Given the description of an element on the screen output the (x, y) to click on. 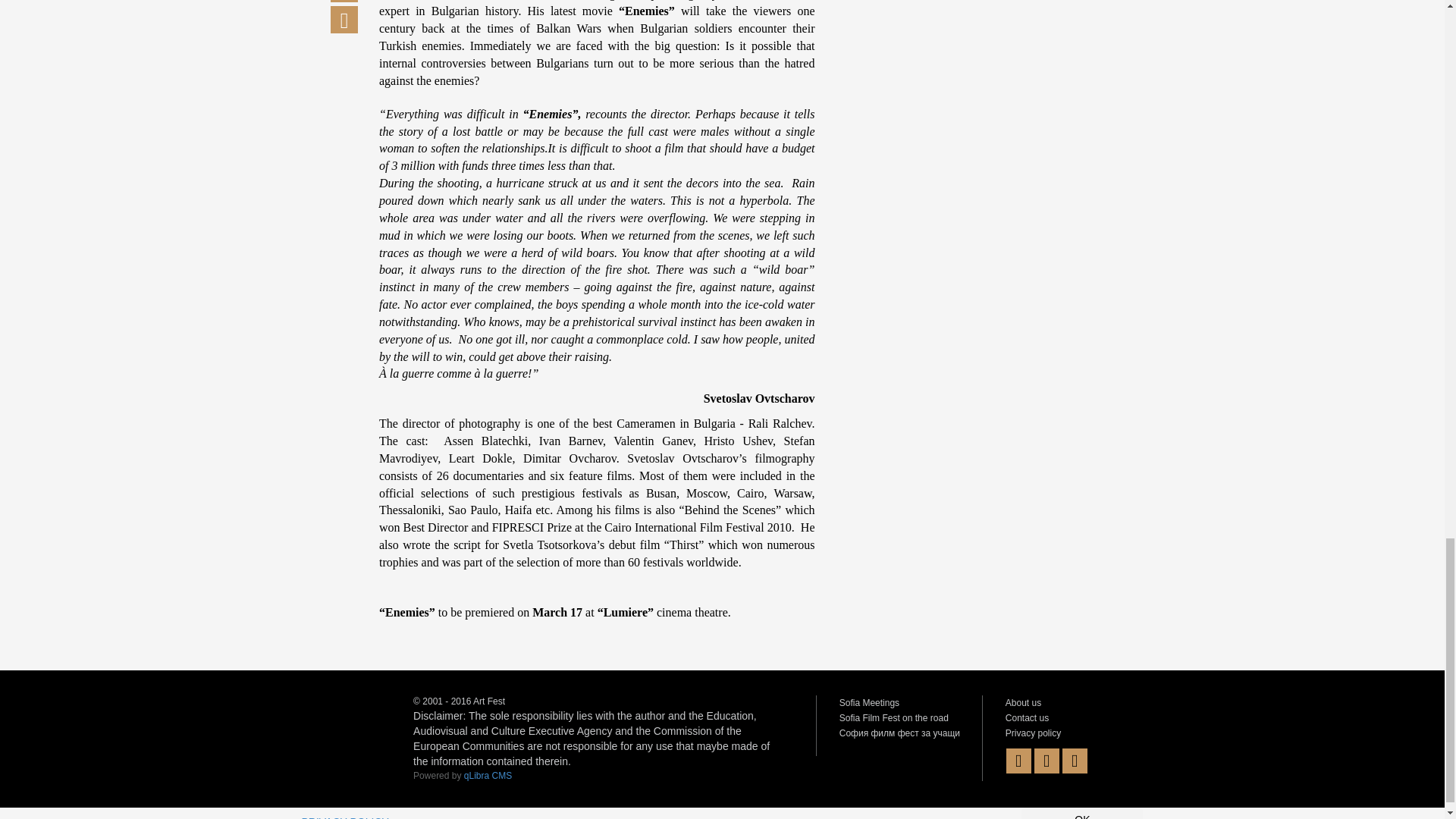
Sofia Film Fest on the road (894, 717)
About us (1023, 702)
qLibra CMS (488, 775)
Privacy policy (1033, 733)
Contact us (1027, 717)
Sofia Meetings (869, 702)
